Given the description of an element on the screen output the (x, y) to click on. 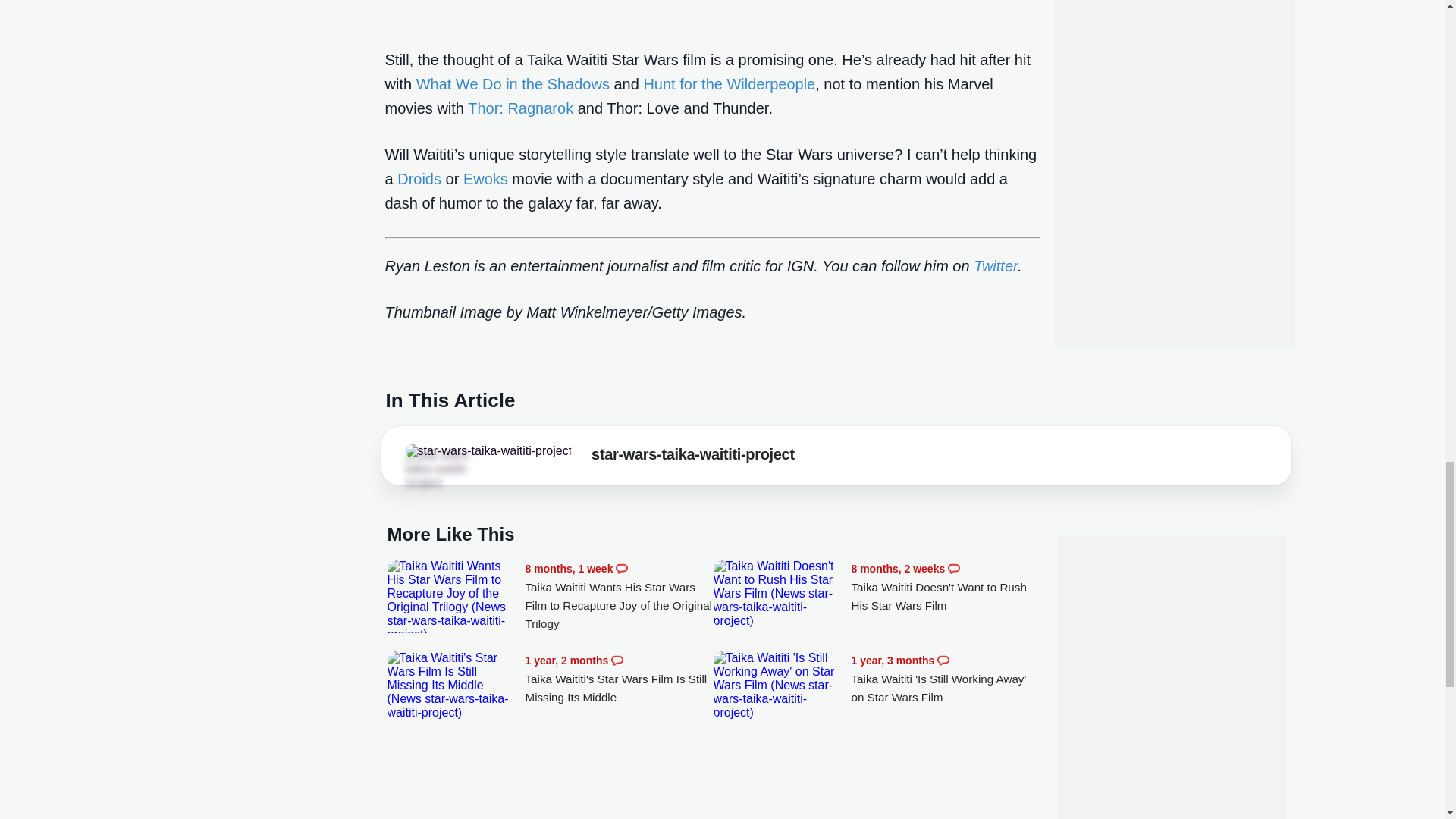
Comments (953, 568)
Taika Waititi's Star Wars Film Is Still Missing Its Middle (451, 685)
Comments (621, 568)
star-wars-taika-waititi-project (448, 468)
Taika Waititi Doesn't Want to Rush His Star Wars Film (944, 587)
star-wars-taika-waititi-project (692, 456)
Comments (943, 660)
Taika Waititi 'Is Still Working Away' on Star Wars Film (778, 685)
Comments (617, 660)
Taika Waititi 'Is Still Working Away' on Star Wars Film (944, 678)
Taika Waititi's Star Wars Film Is Still Missing Its Middle (618, 678)
Taika Waititi Doesn't Want to Rush His Star Wars Film (778, 593)
star-wars-taika-waititi-project (488, 450)
